Given the description of an element on the screen output the (x, y) to click on. 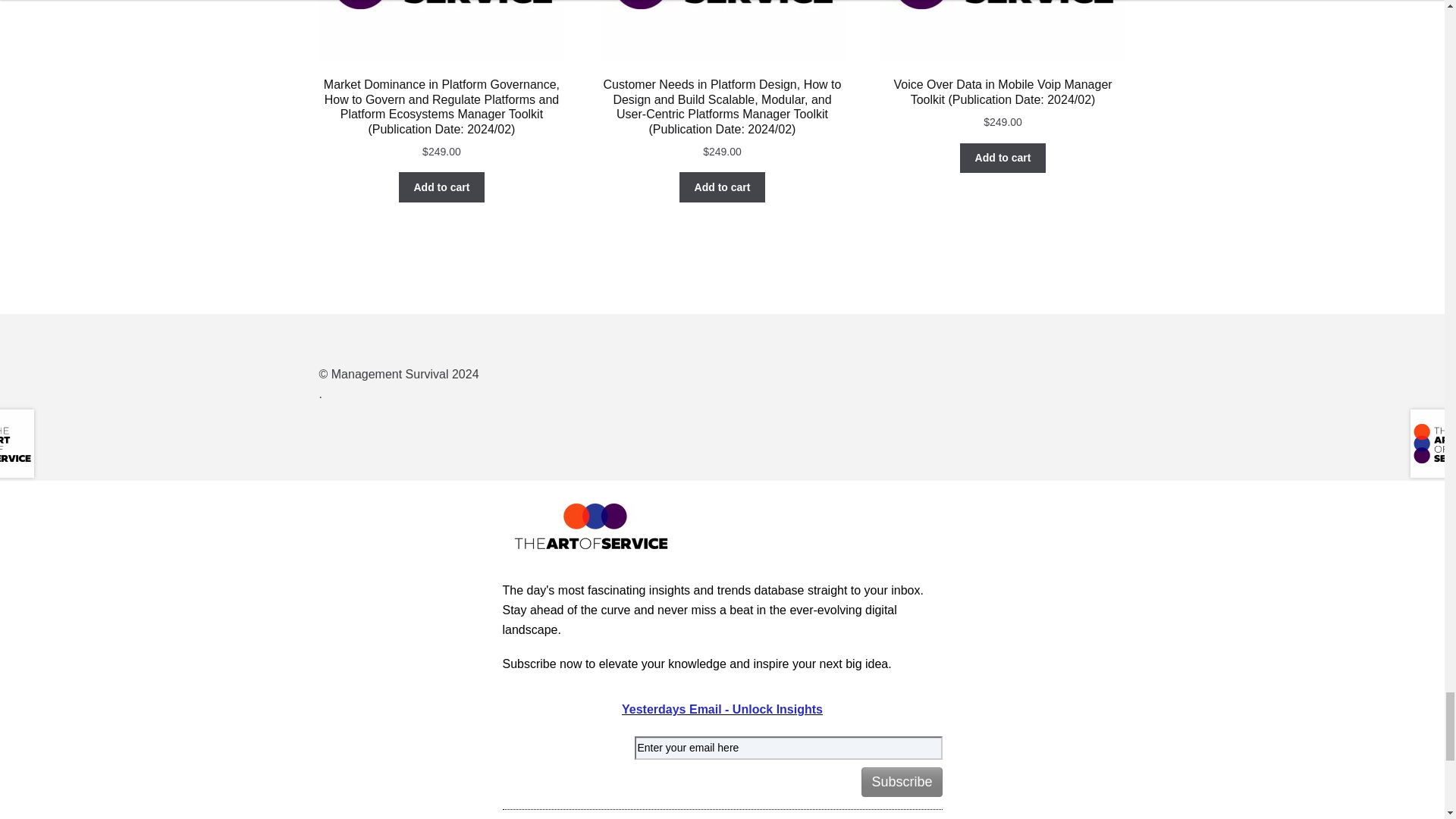
Add to cart (722, 186)
Add to cart (1002, 158)
Enter your email here (787, 748)
Subscribe (901, 781)
Add to cart (441, 186)
